Given the description of an element on the screen output the (x, y) to click on. 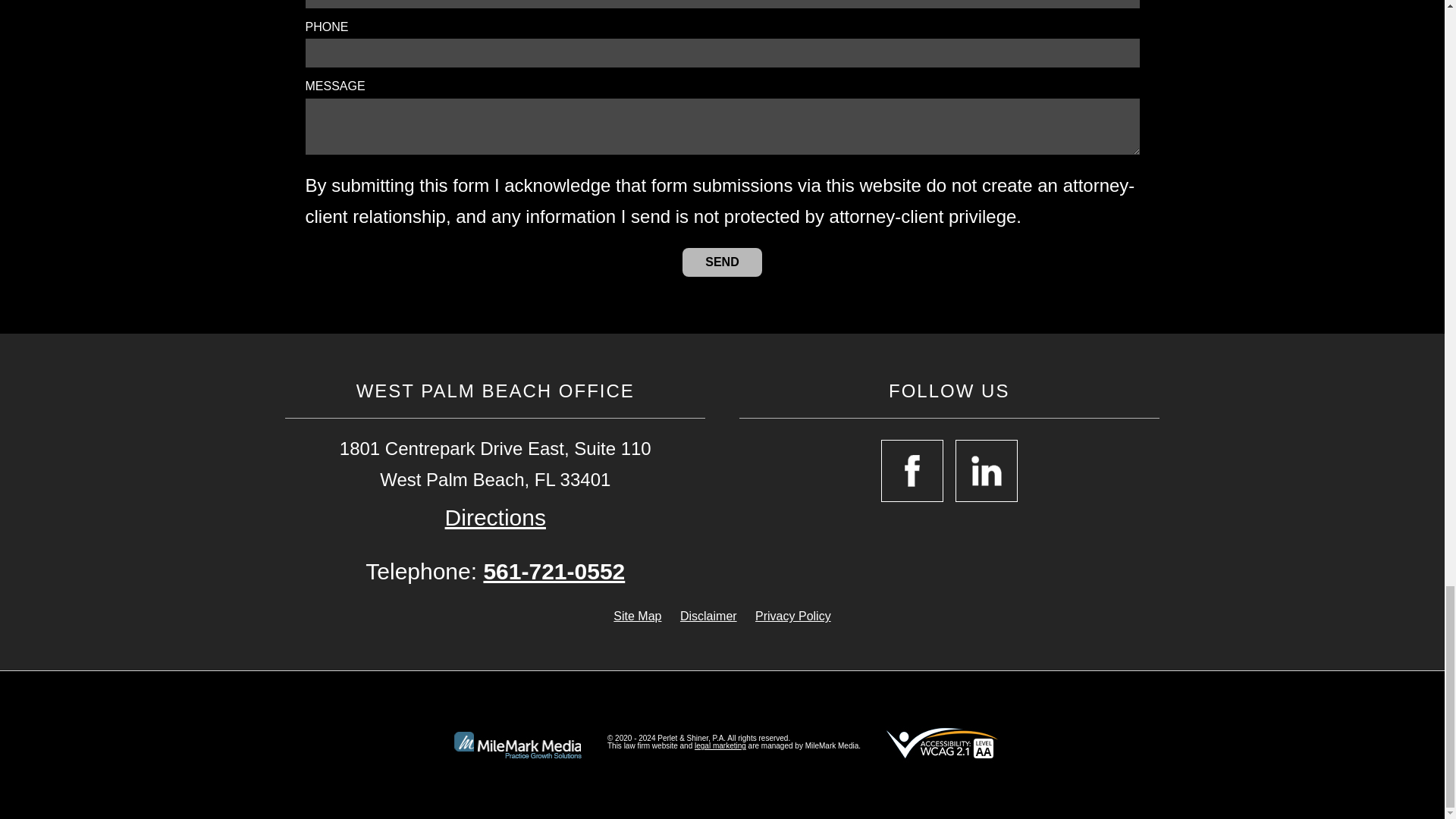
Open MileMarkMedia.com in a New Window (719, 746)
Open Google Map in a New Window (495, 517)
Open Facebook in a New Window (911, 470)
Send (721, 262)
Open Linkedin in a New Window (986, 470)
